Given the description of an element on the screen output the (x, y) to click on. 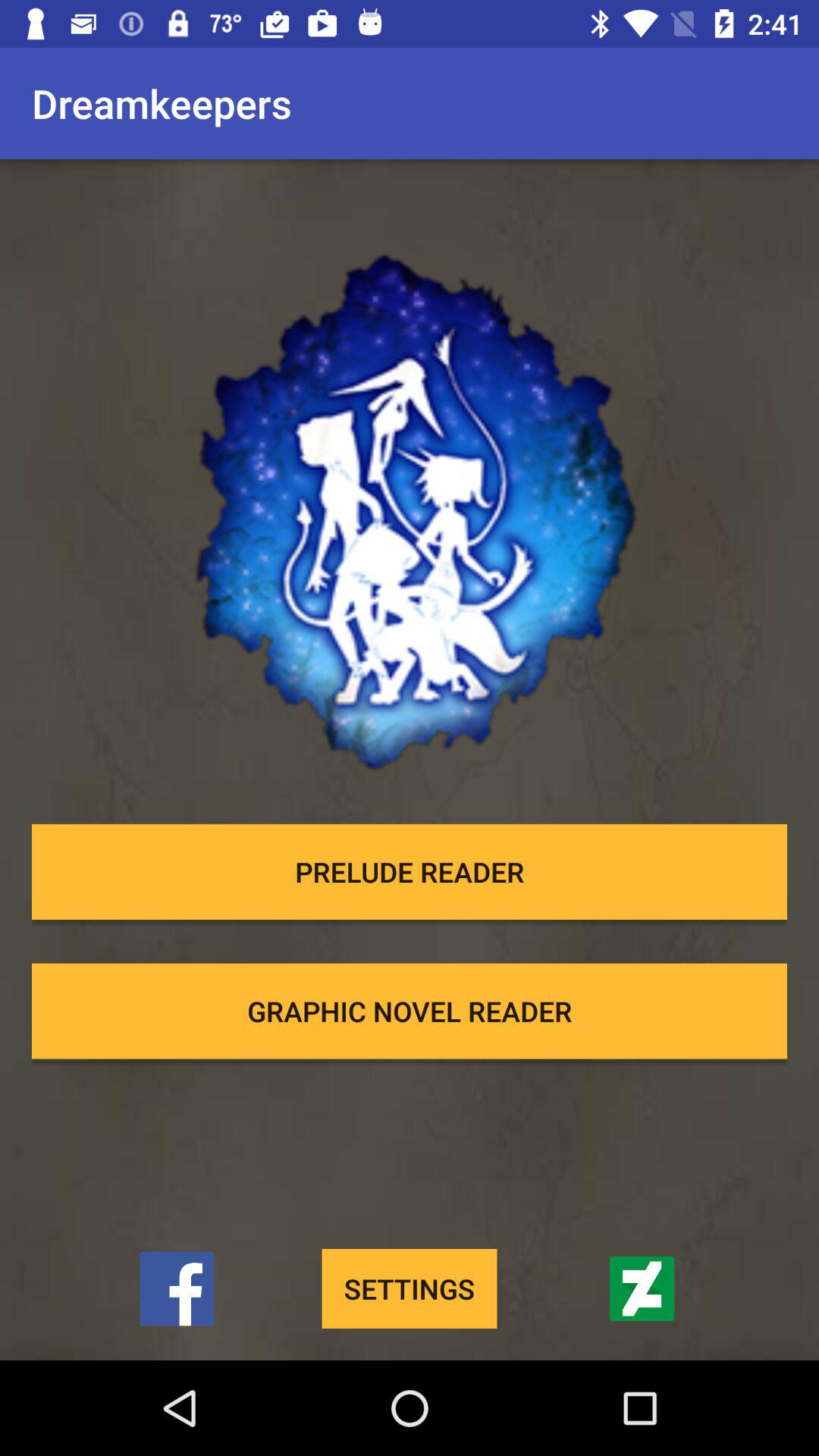
swipe to settings icon (409, 1288)
